Given the description of an element on the screen output the (x, y) to click on. 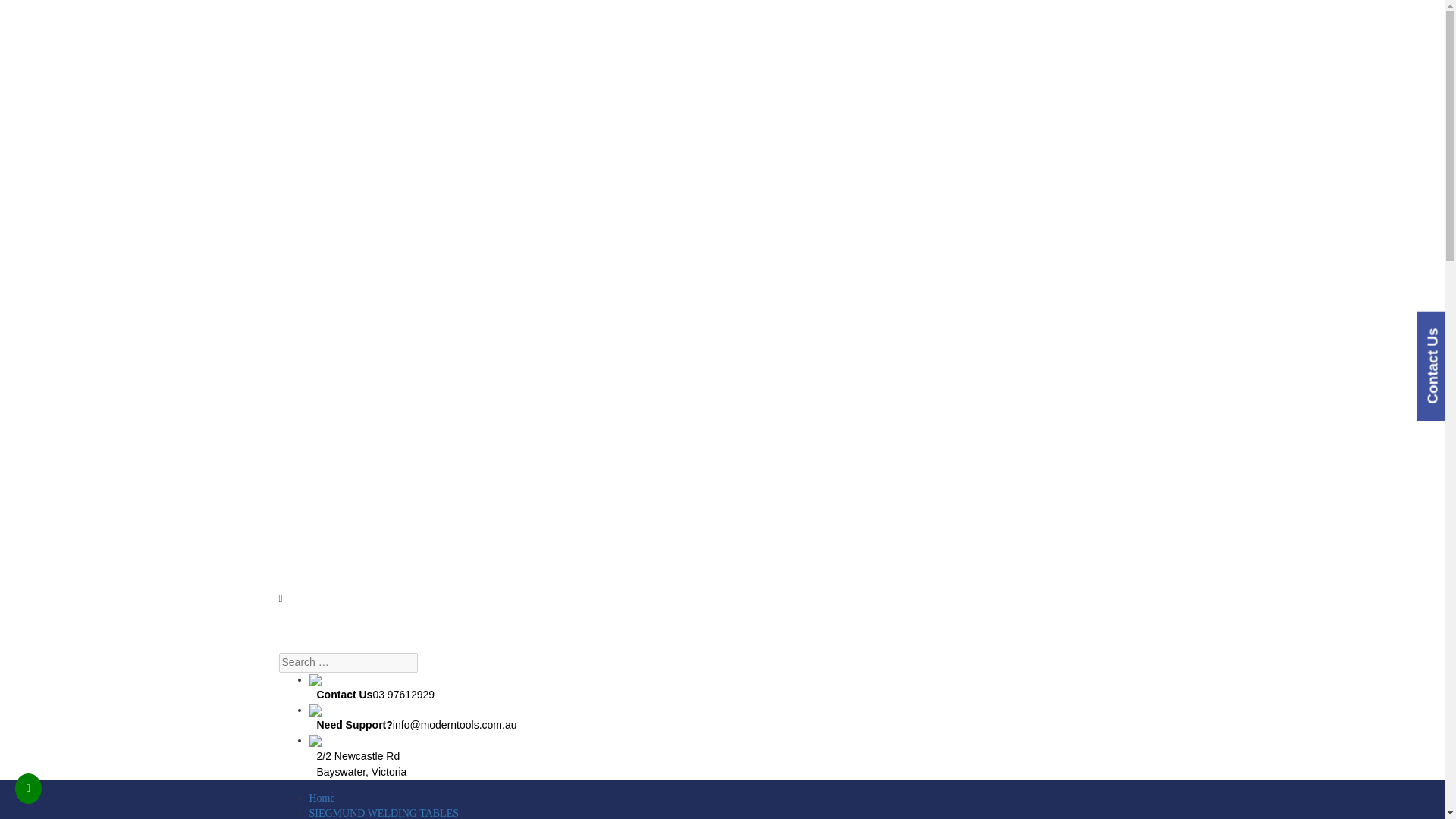
Home (321, 797)
03 97612929 (402, 694)
System 16 (372, 817)
SIEGMUND WELDING TABLES (383, 813)
